Given the description of an element on the screen output the (x, y) to click on. 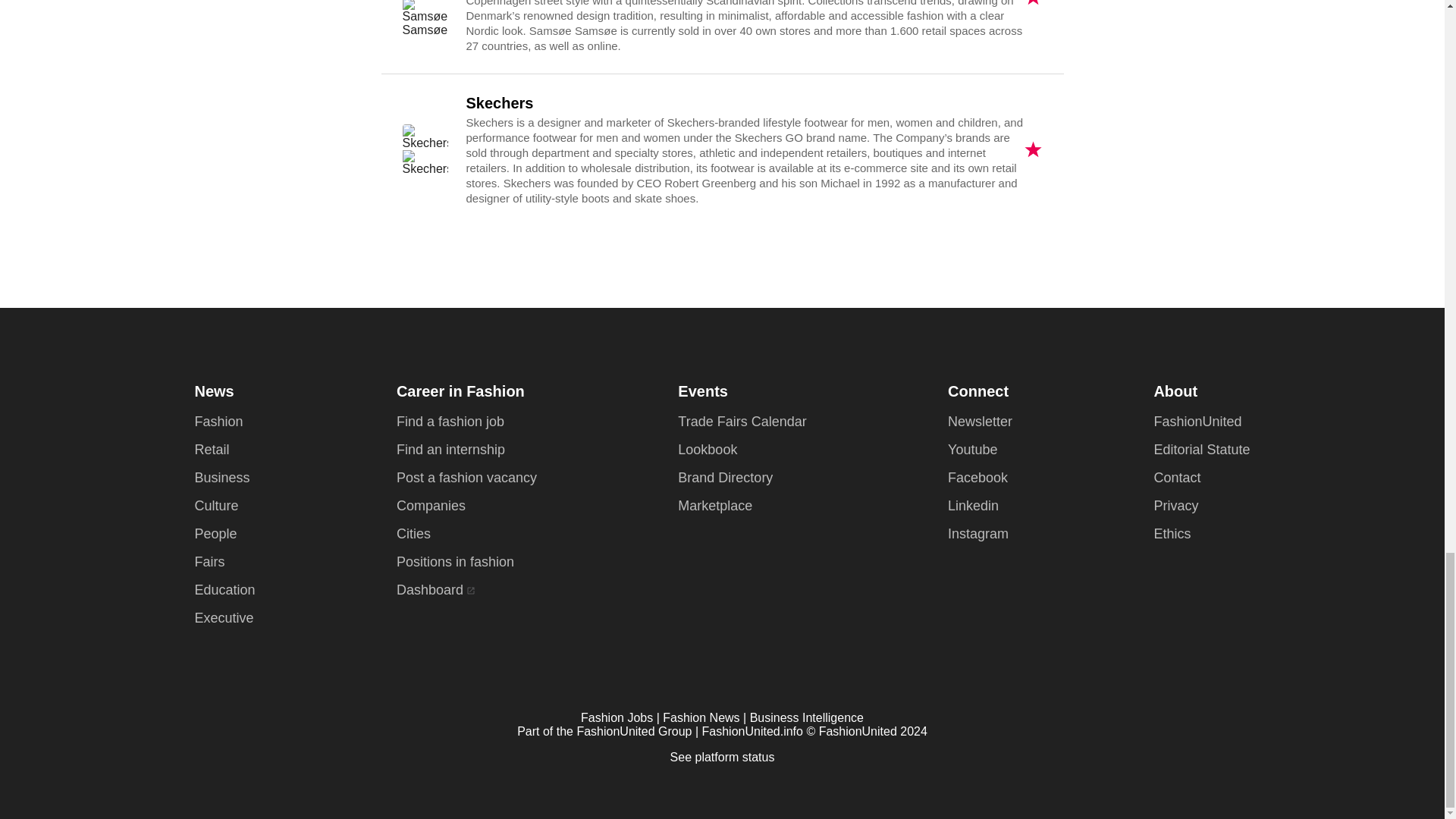
Fairs (208, 561)
Find an internship (450, 449)
Find a fashion job (449, 421)
Executive (223, 617)
Skechers (423, 150)
People (214, 533)
Open in new window (470, 590)
Business (220, 477)
Fashion (218, 421)
Cities (413, 533)
Culture (215, 505)
Retail (210, 449)
Post a fashion vacancy (466, 477)
Education (223, 589)
Positions in fashion (454, 561)
